Given the description of an element on the screen output the (x, y) to click on. 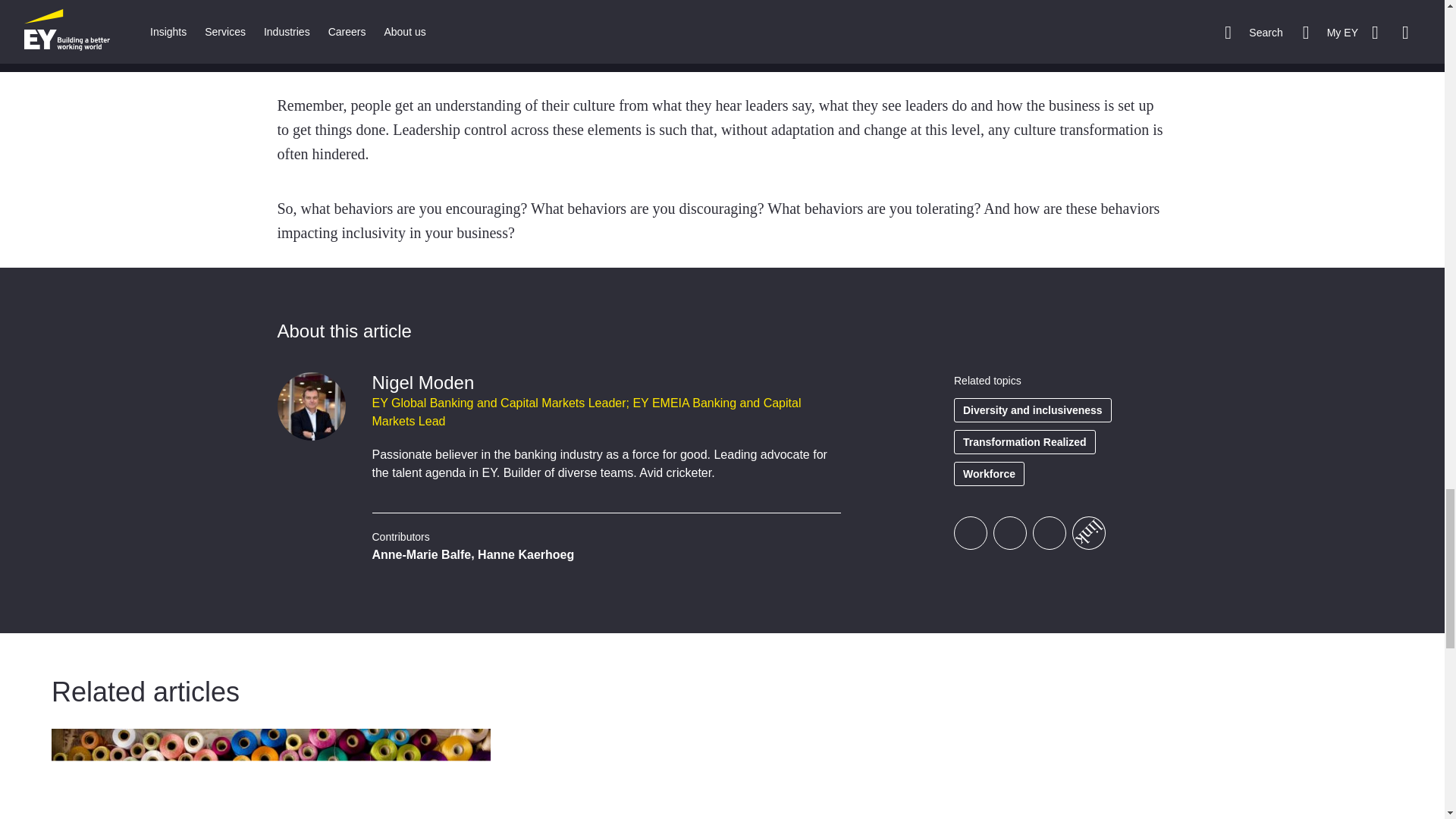
Facebook (970, 532)
Twitter (1009, 532)
Copy (1082, 525)
LinkedIn (1048, 532)
